Given the description of an element on the screen output the (x, y) to click on. 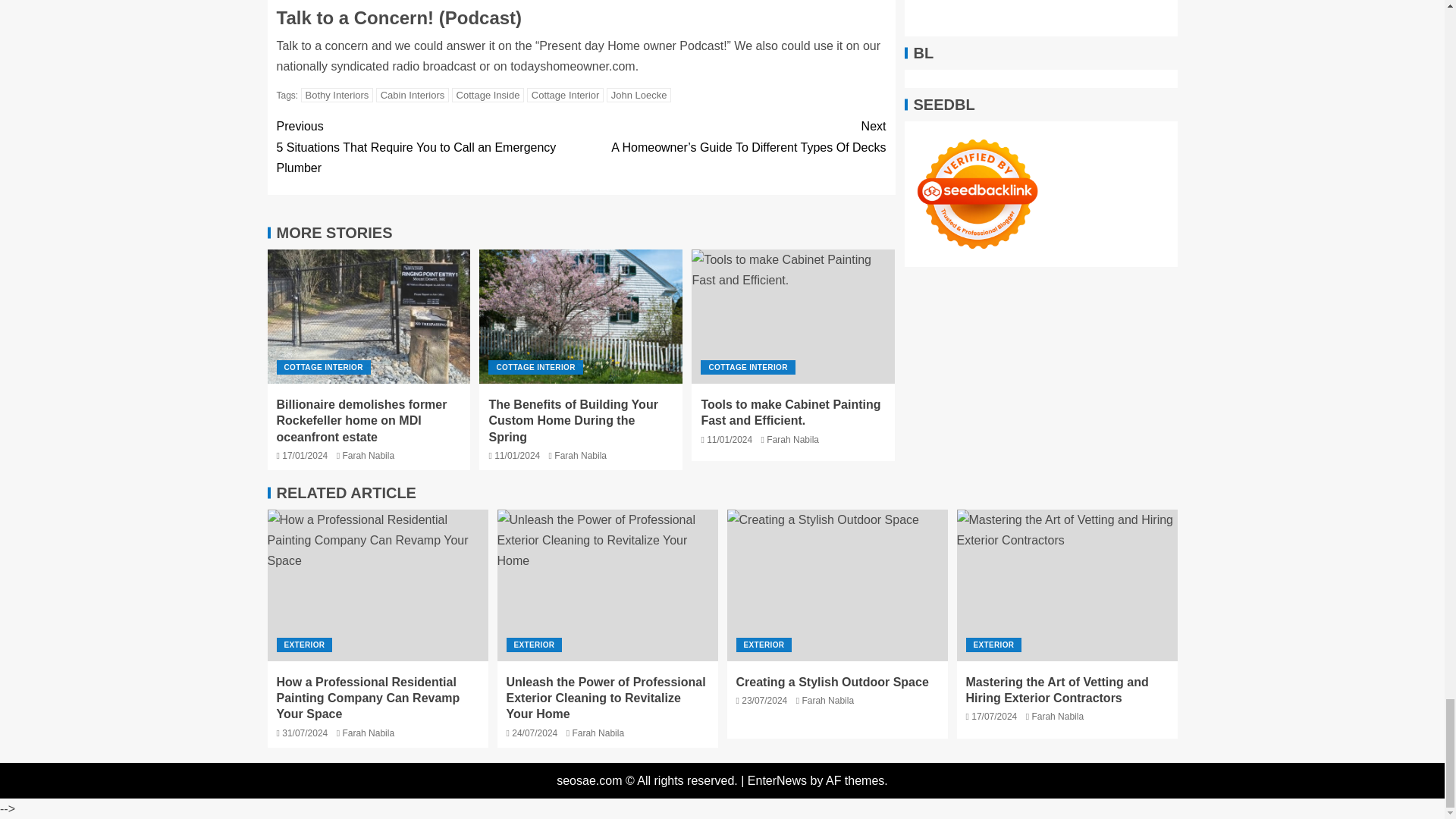
Cabin Interiors (412, 94)
John Loecke (639, 94)
Cottage Inside (487, 94)
Cottage Interior (565, 94)
Tools to make Cabinet Painting Fast and Efficient. (793, 316)
The Benefits of Building Your Custom Home During the Spring (580, 316)
Bothy Interiors (337, 94)
